Given the description of an element on the screen output the (x, y) to click on. 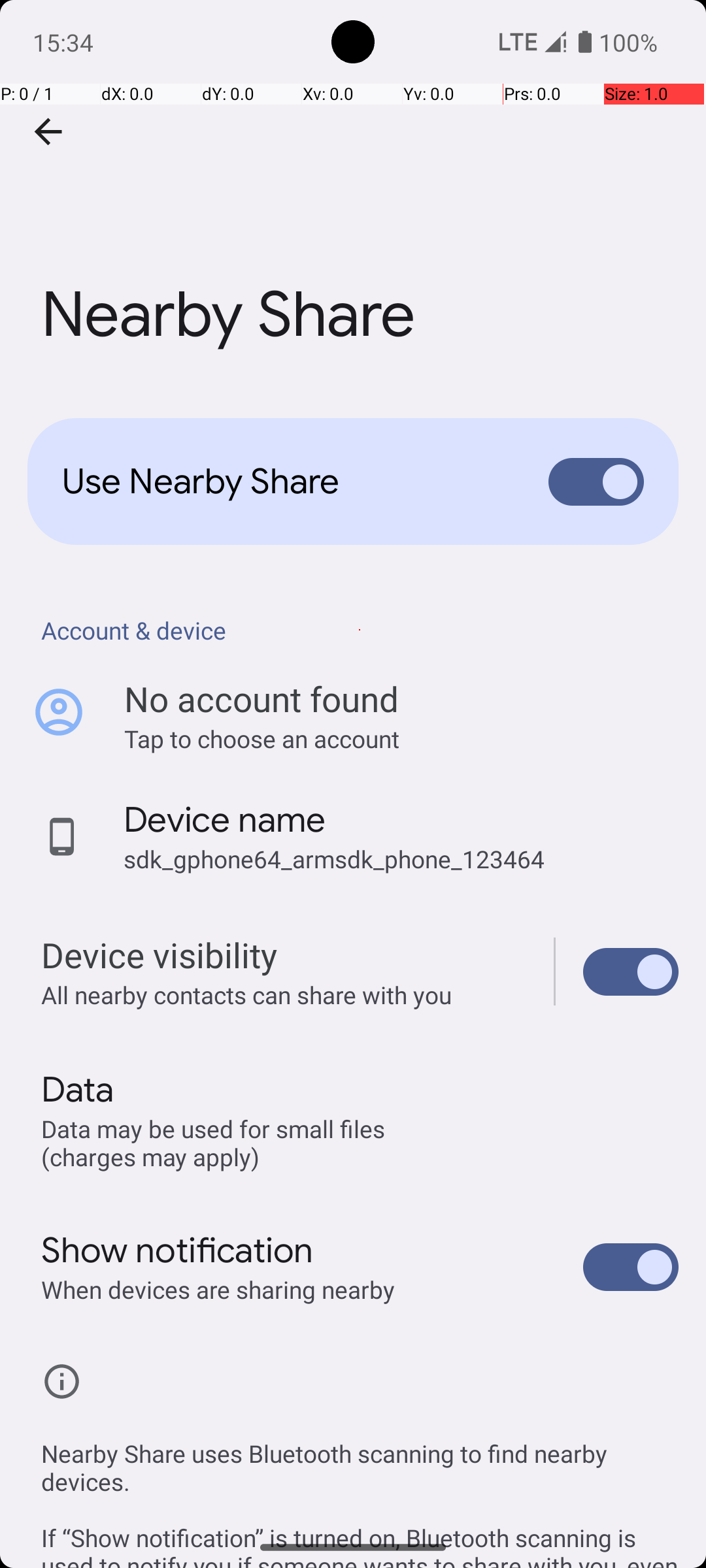
Nearby Share Element type: android.widget.FrameLayout (353, 195)
Use Nearby Share Element type: android.widget.TextView (284, 481)
Account & device Element type: android.widget.TextView (359, 629)
No account found Element type: android.widget.TextView (261, 698)
Tap to choose an account Element type: android.widget.TextView (401, 738)
sdk_gphone64_armsdk_phone_123464 Element type: android.widget.TextView (333, 858)
Device visibility Element type: android.widget.Switch (630, 971)
Data Element type: android.widget.TextView (77, 1089)
Data may be used for small files 
(charges may apply) Element type: android.widget.TextView (215, 1142)
Show notification Element type: android.widget.TextView (177, 1250)
When devices are sharing nearby Element type: android.widget.TextView (218, 1289)
Nearby Share uses Bluetooth scanning to find nearby devices. 

If “Show notification” is turned on, Bluetooth scanning is used to notify you if someone wants to share with you, even when Nearby Share is turned off. Element type: android.widget.TextView (359, 1488)
All nearby contacts can share with you Element type: android.widget.TextView (283, 994)
